Given the description of an element on the screen output the (x, y) to click on. 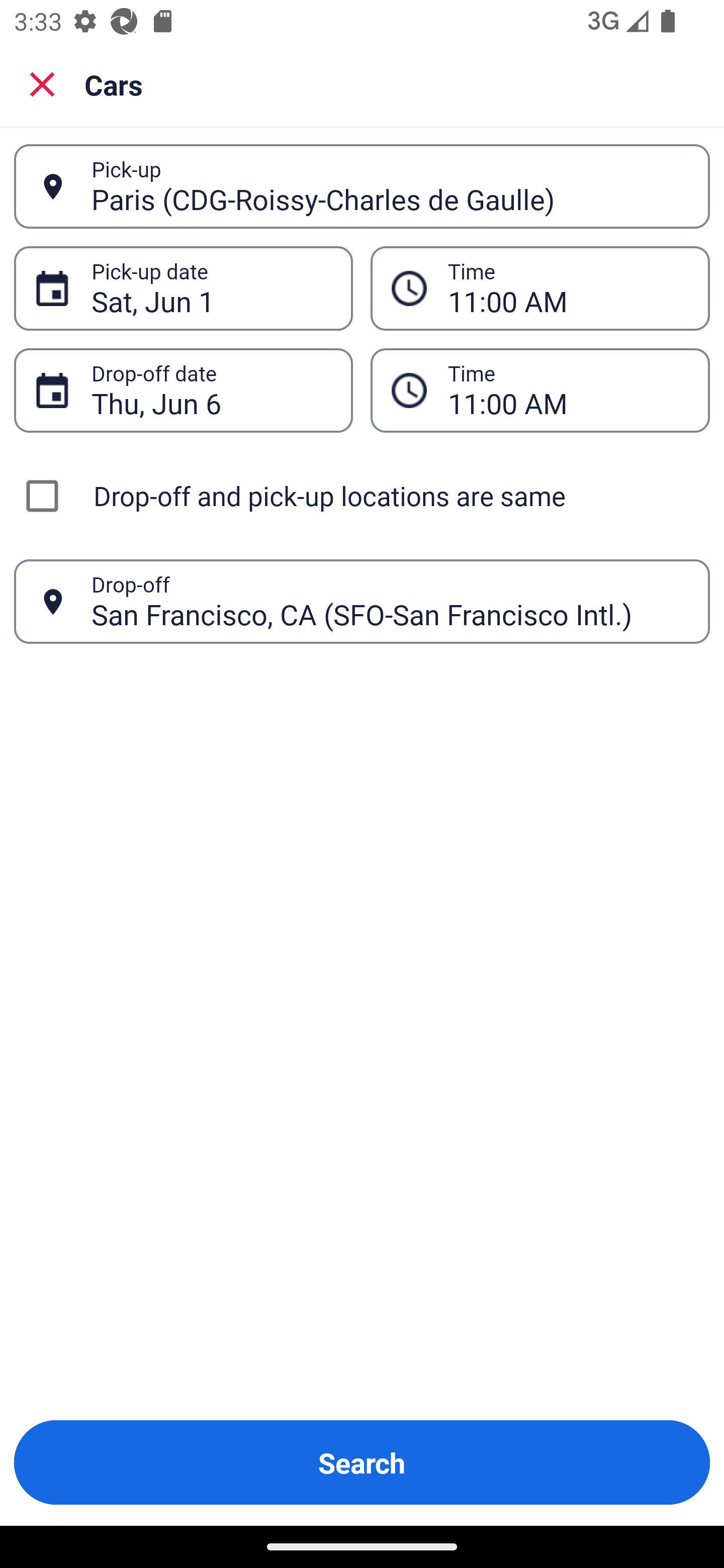
Close search screen (41, 83)
Paris (CDG-Roissy-Charles de Gaulle) Pick-up (361, 186)
Paris (CDG-Roissy-Charles de Gaulle) (389, 186)
Sat, Jun 1 Pick-up date (183, 288)
11:00 AM (540, 288)
Sat, Jun 1 (211, 288)
11:00 AM (568, 288)
Thu, Jun 6 Drop-off date (183, 390)
11:00 AM (540, 390)
Thu, Jun 6 (211, 390)
11:00 AM (568, 390)
Drop-off and pick-up locations are same (361, 495)
San Francisco, CA (SFO-San Francisco Intl.) (389, 601)
Search Button Search (361, 1462)
